Given the description of an element on the screen output the (x, y) to click on. 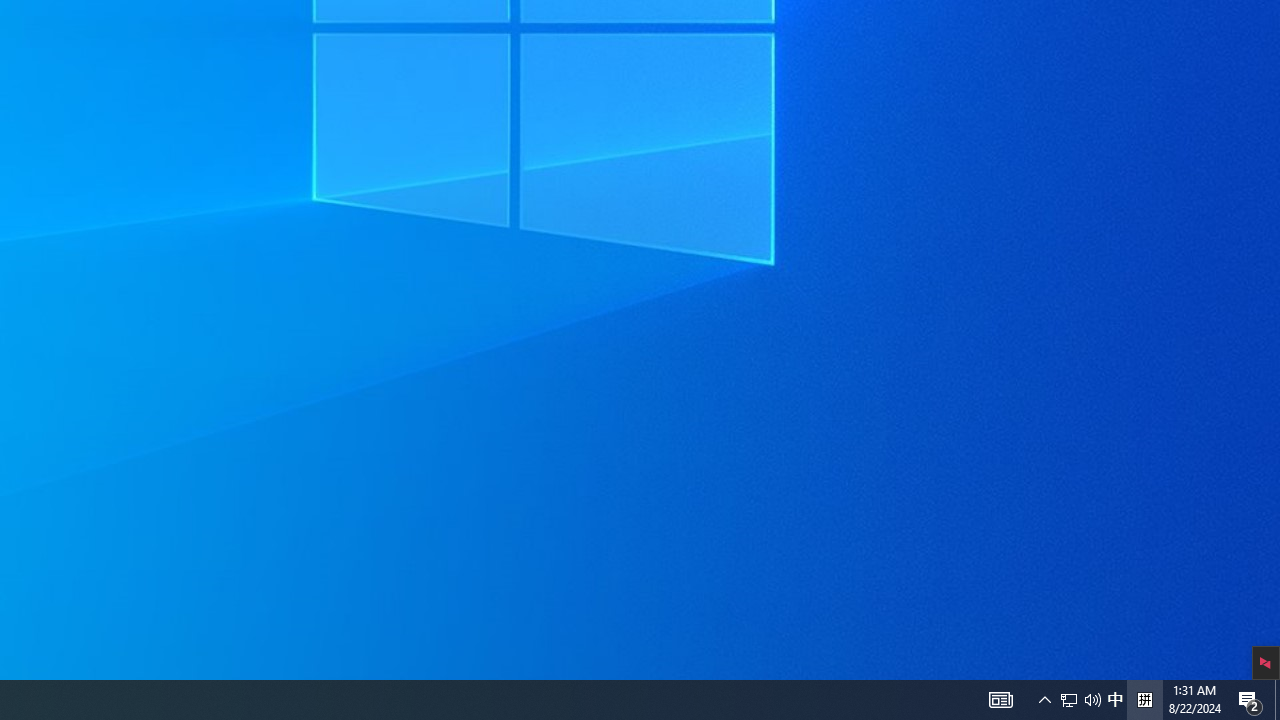
Tray Input Indicator - Chinese (Simplified, China) (1144, 699)
User Promoted Notification Area (1080, 699)
Show desktop (1277, 699)
Q2790: 100% (1092, 699)
Notification Chevron (1044, 699)
AutomationID: 4105 (1115, 699)
Action Center, 2 new notifications (1069, 699)
